Given the description of an element on the screen output the (x, y) to click on. 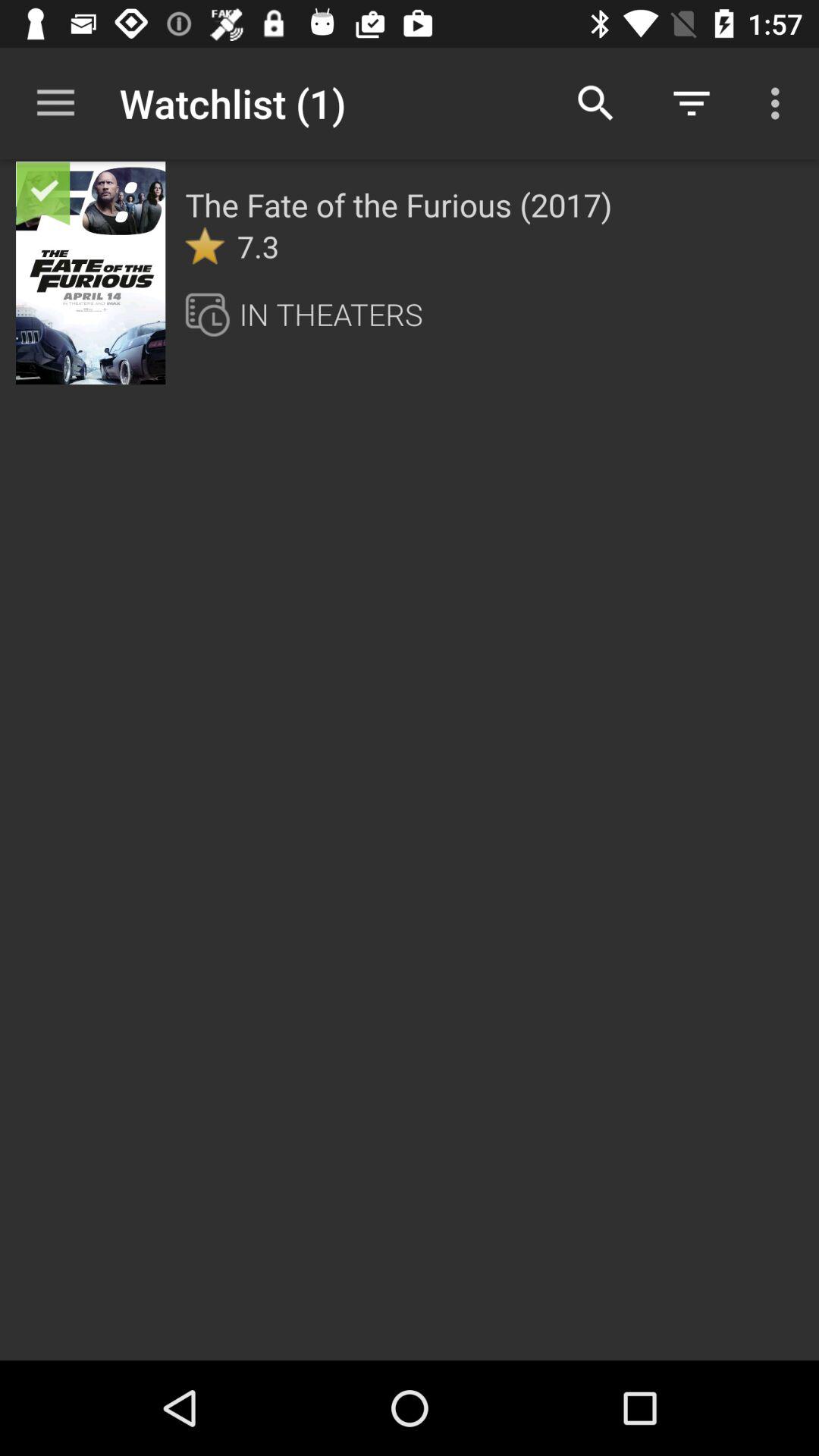
open item next to the the fate of item (134, 191)
